Given the description of an element on the screen output the (x, y) to click on. 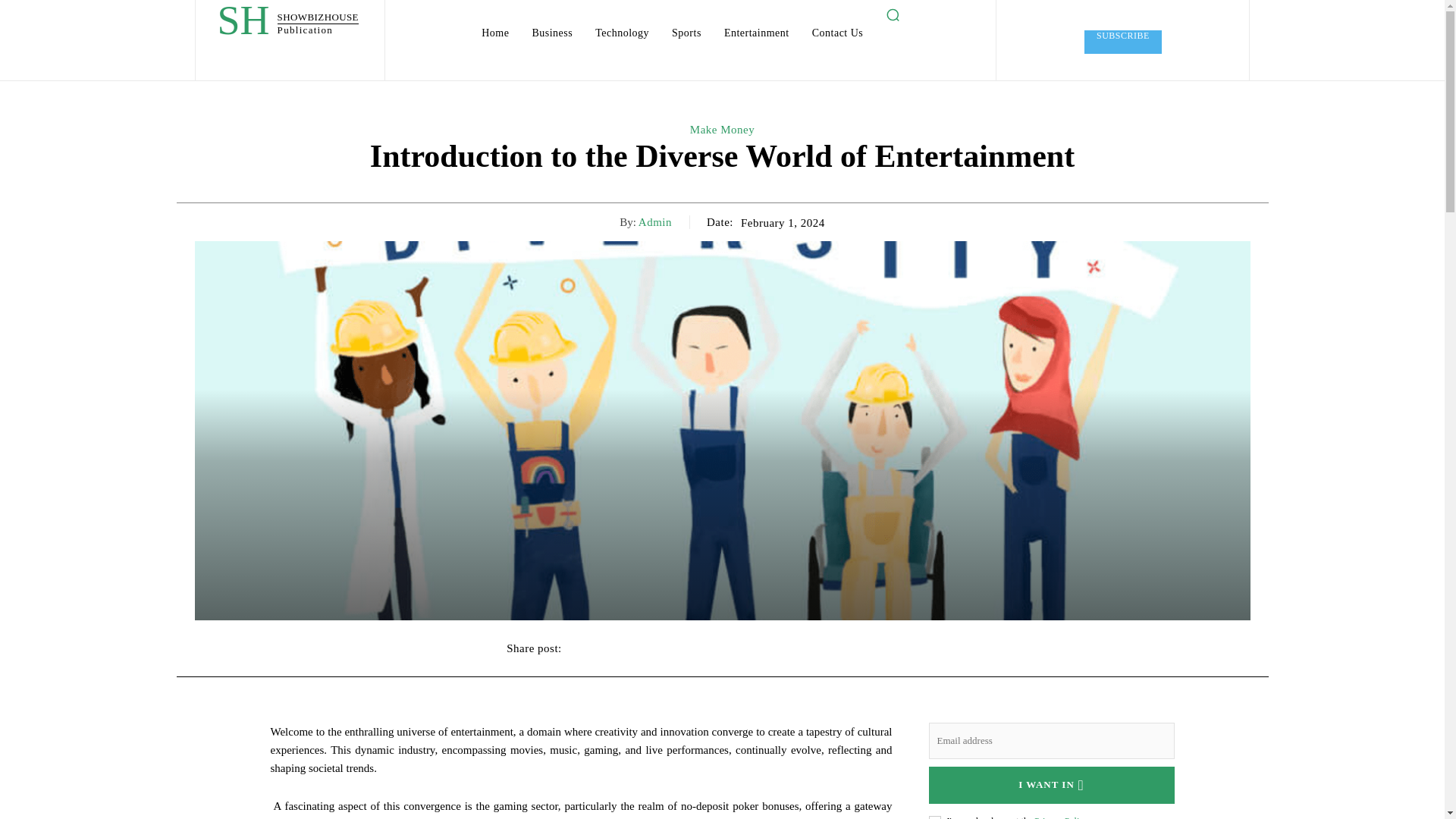
Technology (622, 33)
SUBSCRIBE (1122, 42)
Contact Us (837, 33)
Entertainment (287, 23)
Business (756, 33)
